Given the description of an element on the screen output the (x, y) to click on. 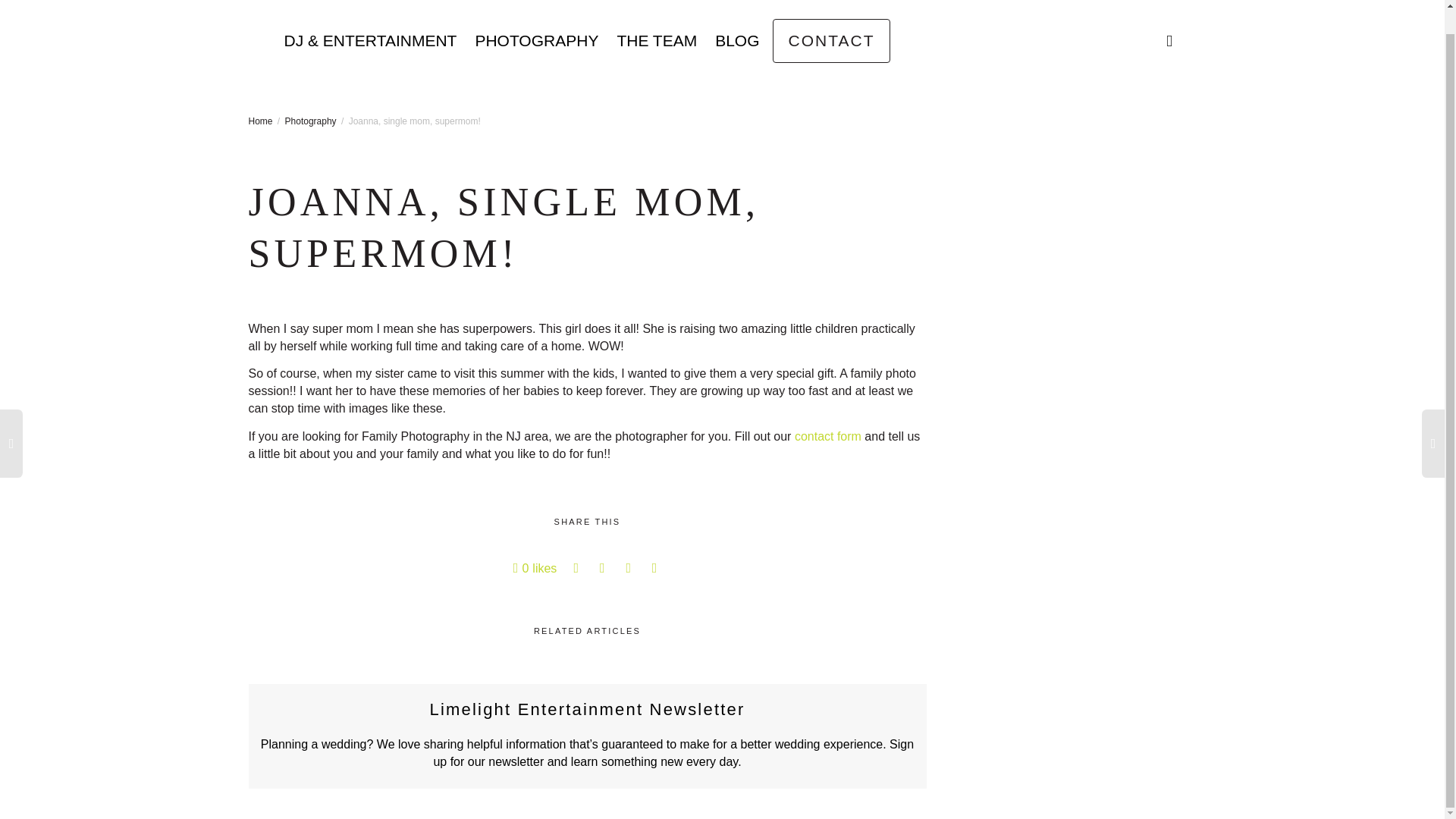
The Team (656, 40)
Call 1.888.900.0042 (1111, 2)
Like this (535, 568)
contact form (827, 436)
Photography (310, 121)
CALL 1.888.900.0042 (1111, 2)
0 likes (535, 568)
CONTACT (832, 40)
Contact (832, 40)
Photography (536, 40)
